Given the description of an element on the screen output the (x, y) to click on. 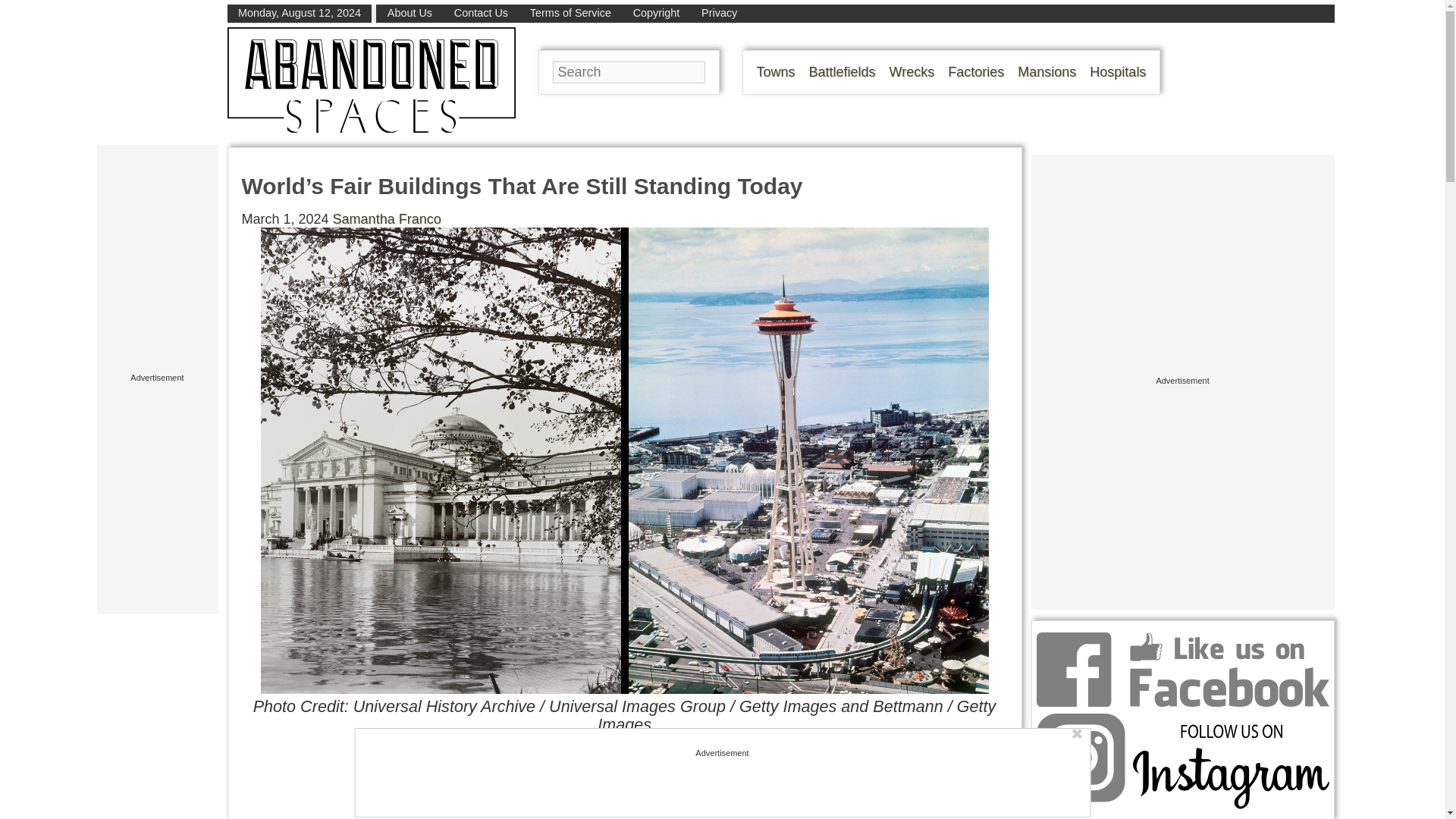
Battlefields (842, 71)
Copyright (656, 12)
Privacy (718, 12)
Mansions (1046, 71)
About Us (409, 12)
Wrecks (911, 71)
Hospitals (1117, 71)
Factories (975, 71)
Terms of Service (570, 12)
Contact Us (481, 12)
